Given the description of an element on the screen output the (x, y) to click on. 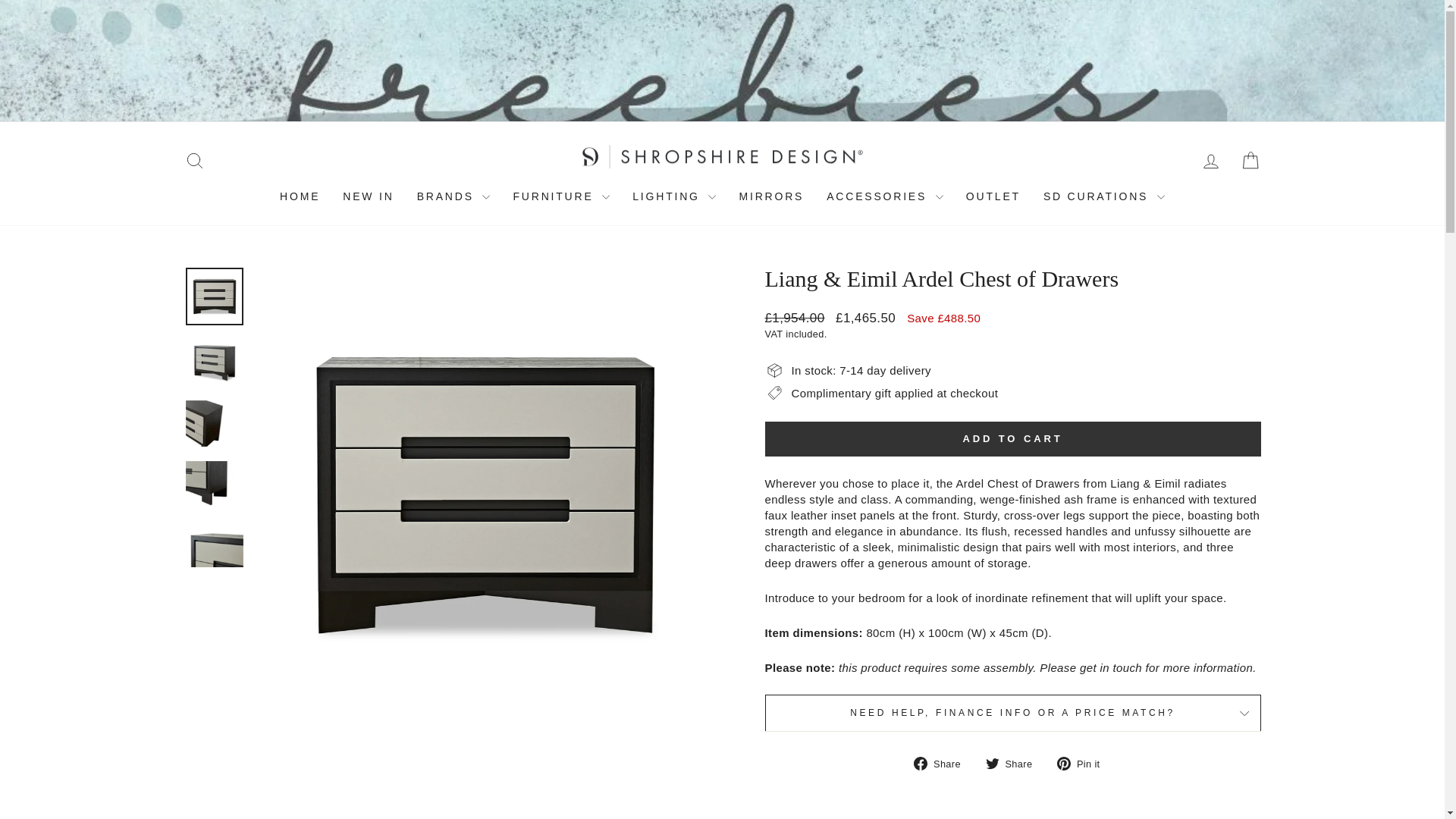
Share on Facebook (942, 763)
instagram (1211, 110)
ICON-SEARCH (194, 160)
Shropshire Design on Instagram (1211, 110)
Pin on Pinterest (1083, 763)
ACCOUNT (1210, 160)
Shropshire Design on Facebook (1230, 110)
twitter (991, 763)
Shropshire Design on Pinterest (1250, 110)
